Given the description of an element on the screen output the (x, y) to click on. 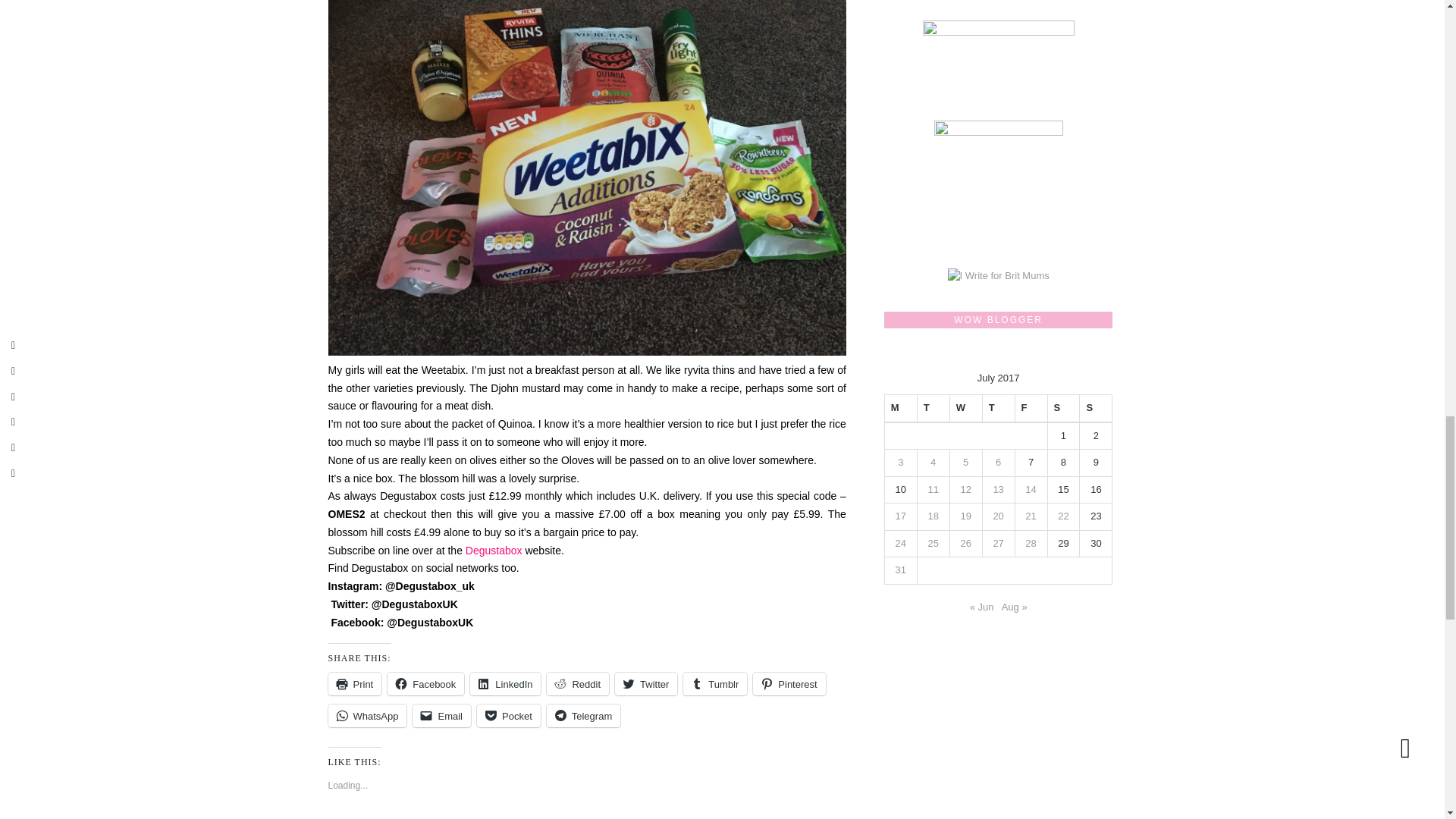
Click to share on LinkedIn (505, 683)
Facebook (425, 683)
Click to share on Facebook (425, 683)
Twitter (645, 683)
Click to print (354, 683)
Reddit (577, 683)
Click to share on Twitter (645, 683)
LinkedIn (505, 683)
Print (354, 683)
Tumblr (714, 683)
Click to share on Reddit (577, 683)
Degustabox (493, 550)
